Given the description of an element on the screen output the (x, y) to click on. 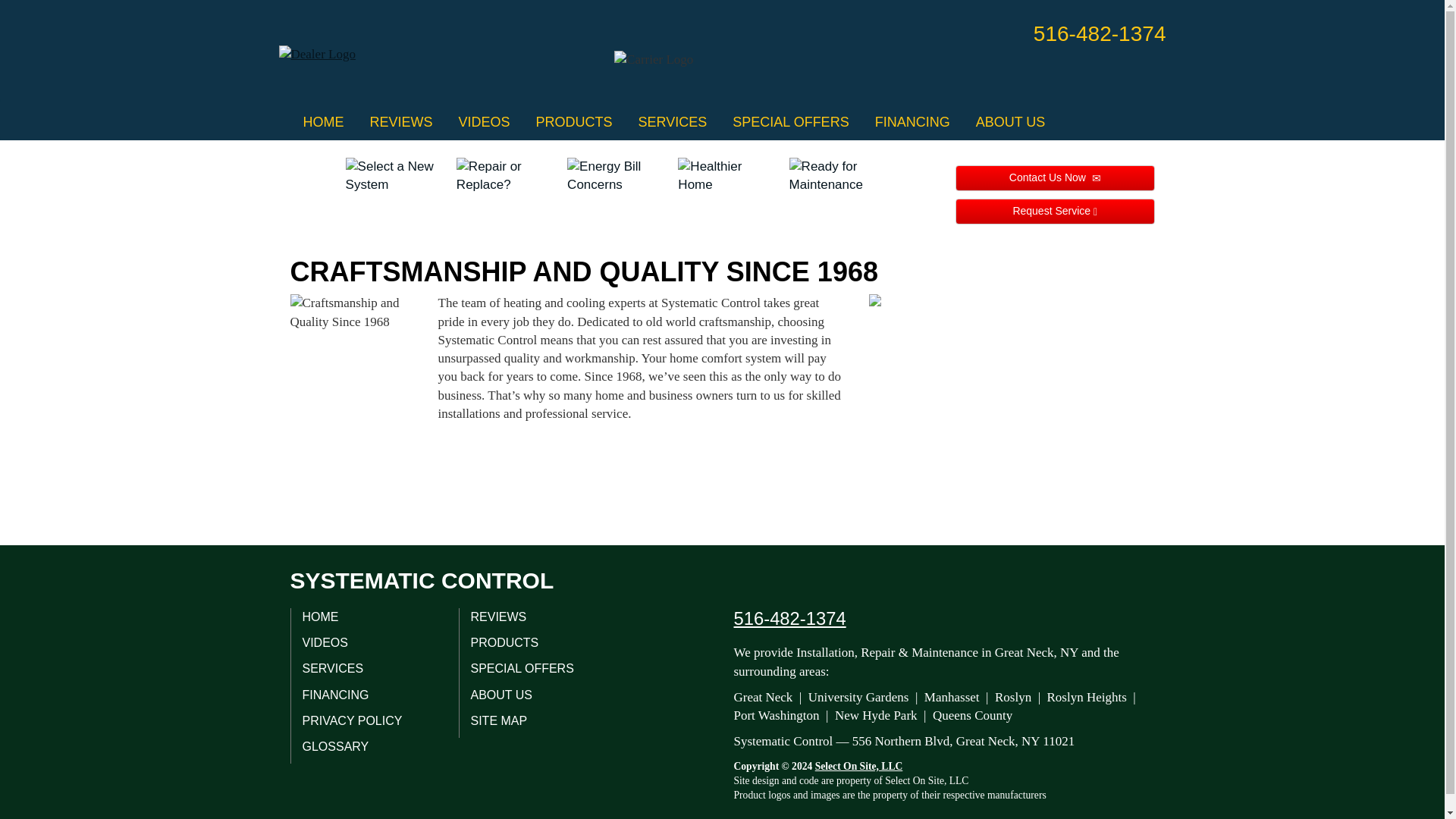
PRODUCTS (574, 122)
ABOUT US (1010, 122)
SPECIAL OFFERS (790, 122)
HOME (322, 122)
REVIEWS (400, 122)
516-482-1374 (1099, 33)
SERVICES (673, 122)
VIDEOS (483, 122)
FINANCING (911, 122)
